Given the description of an element on the screen output the (x, y) to click on. 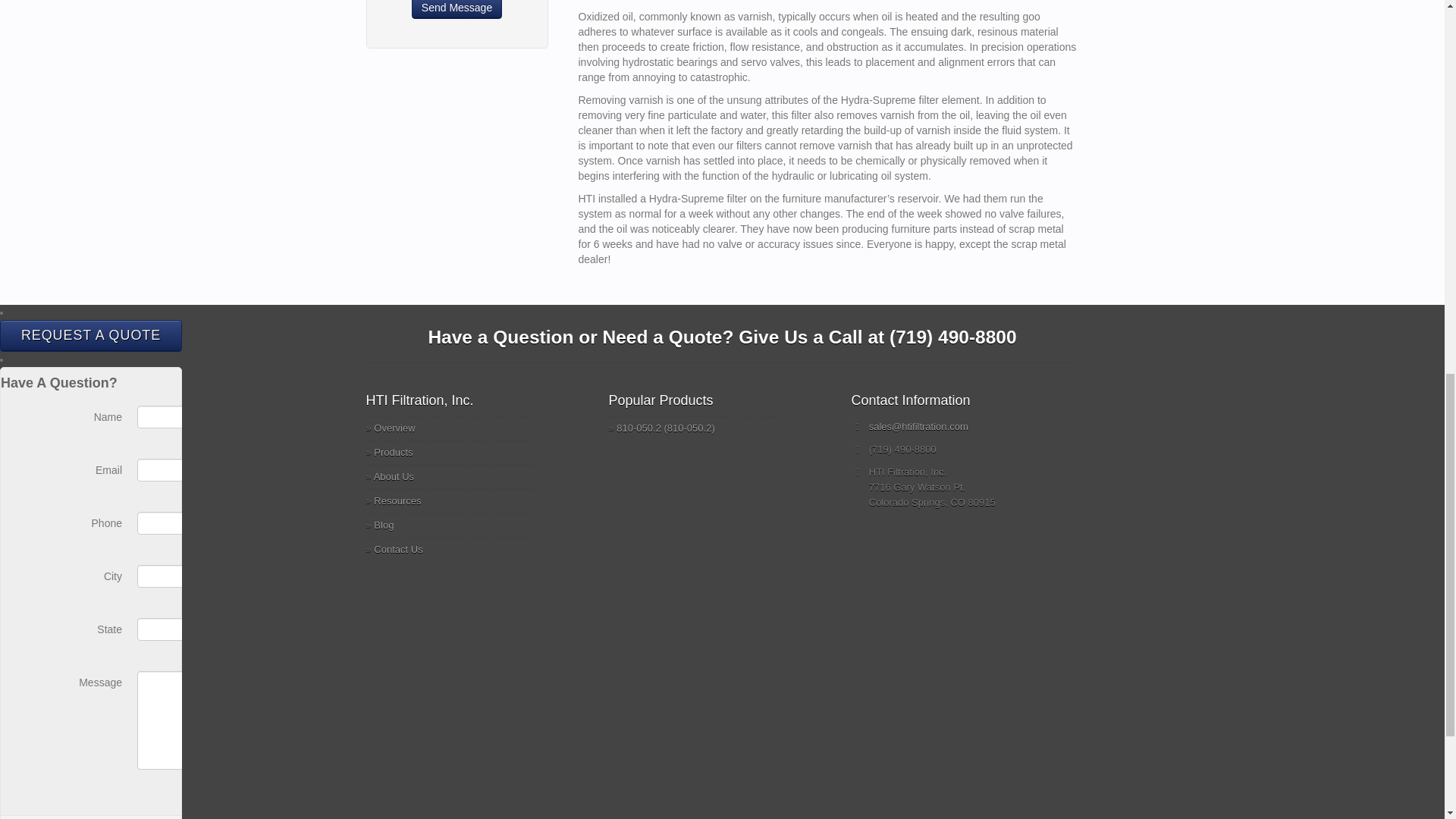
Overview (394, 428)
Contact Us (398, 549)
Products (393, 451)
Send Message (457, 9)
REQUEST A QUOTE (91, 336)
Send Message (457, 9)
Resources (397, 500)
Blog (383, 524)
About Us (393, 476)
